Given the description of an element on the screen output the (x, y) to click on. 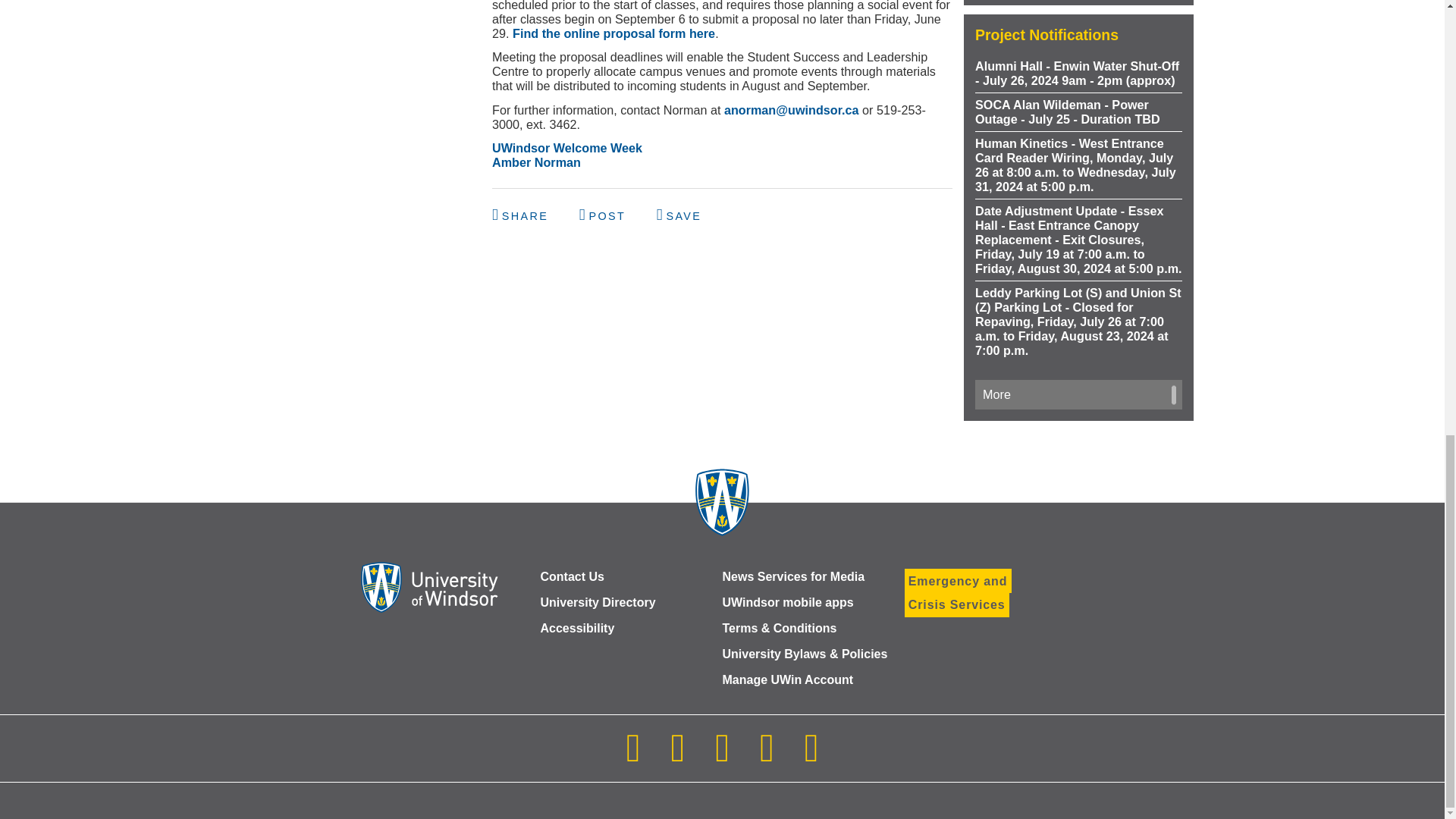
Share us on Facebook (521, 214)
Follow on Facebook (677, 757)
Follow on LinkedIn (721, 757)
Share us on Pinterest (678, 214)
View this feed's recent news. (1078, 394)
